Given the description of an element on the screen output the (x, y) to click on. 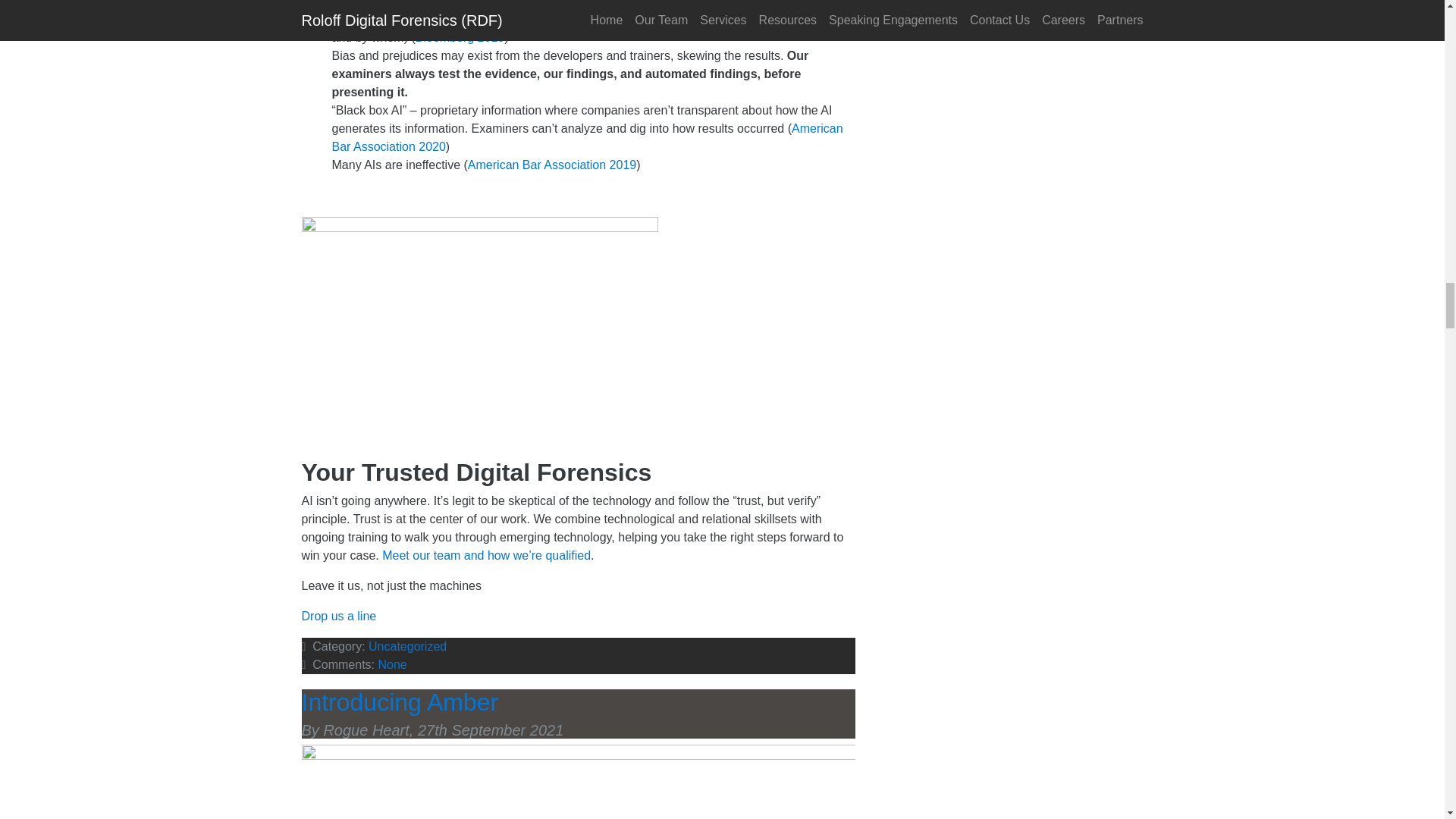
Drop us a line (339, 615)
Bloomberg 2019 (458, 37)
American Bar Association 2020 (587, 137)
American Bar Association 2019 (551, 164)
